Given the description of an element on the screen output the (x, y) to click on. 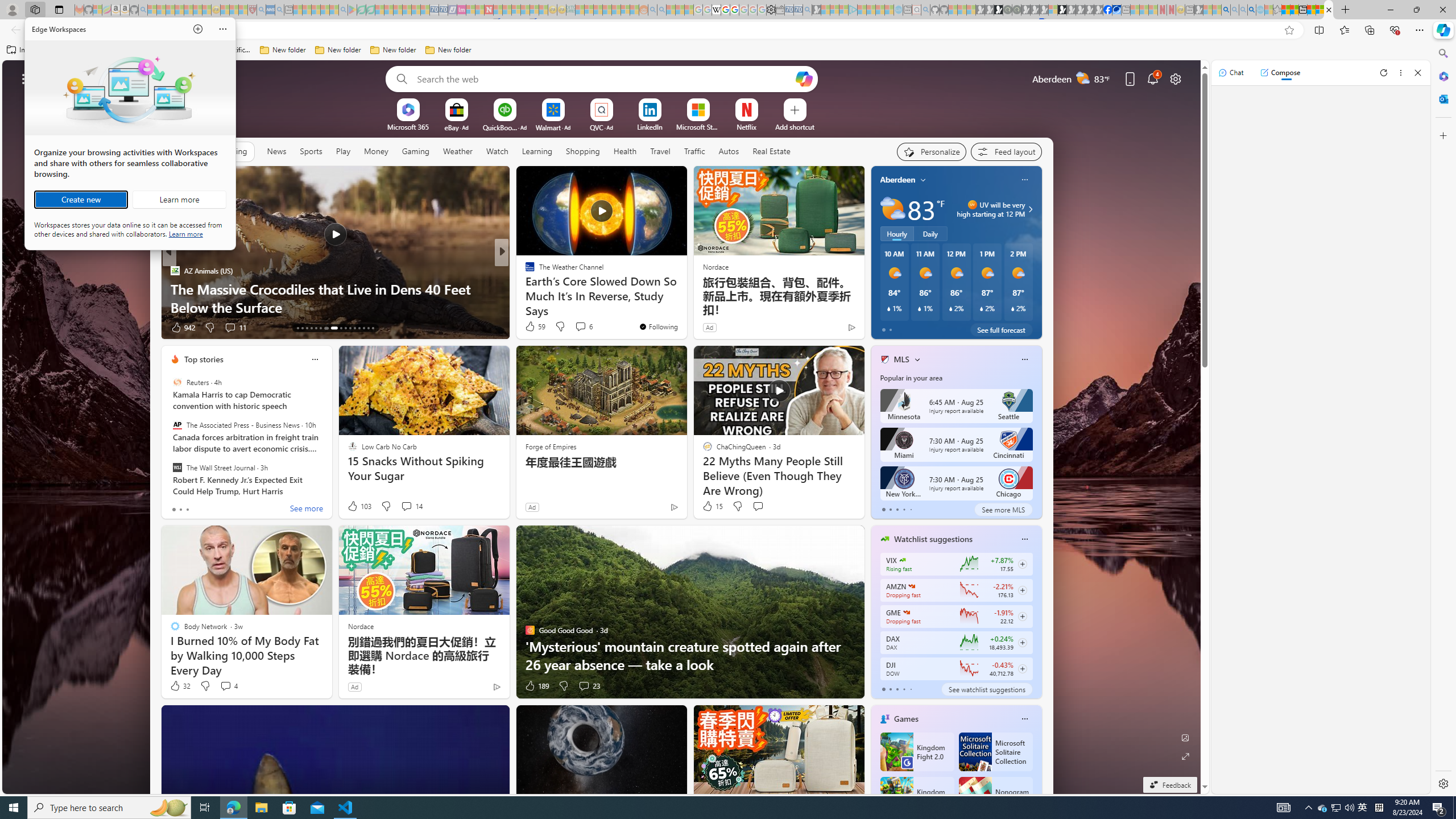
View comments 8 Comment (576, 327)
Aberdeen, Hong Kong SAR weather forecast | Microsoft Weather (1294, 9)
Sports (310, 151)
Health (624, 151)
Favorites - Sleeping (1277, 9)
Microsoft Solitaire Collection (995, 751)
Autos (729, 151)
Class: weather-arrow-glyph (1029, 208)
